Given the description of an element on the screen output the (x, y) to click on. 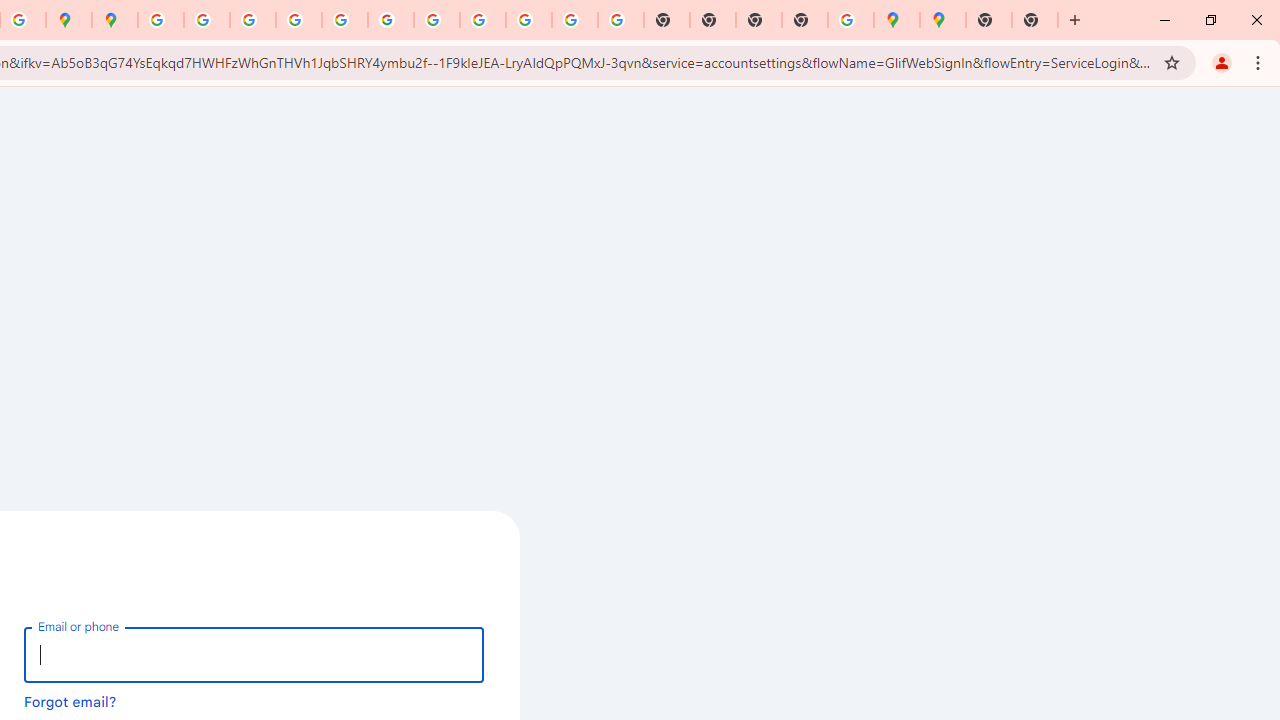
YouTube (436, 20)
Google Maps (897, 20)
Use Google Maps in Space - Google Maps Help (851, 20)
New Tab (805, 20)
New Tab (1035, 20)
